Given the description of an element on the screen output the (x, y) to click on. 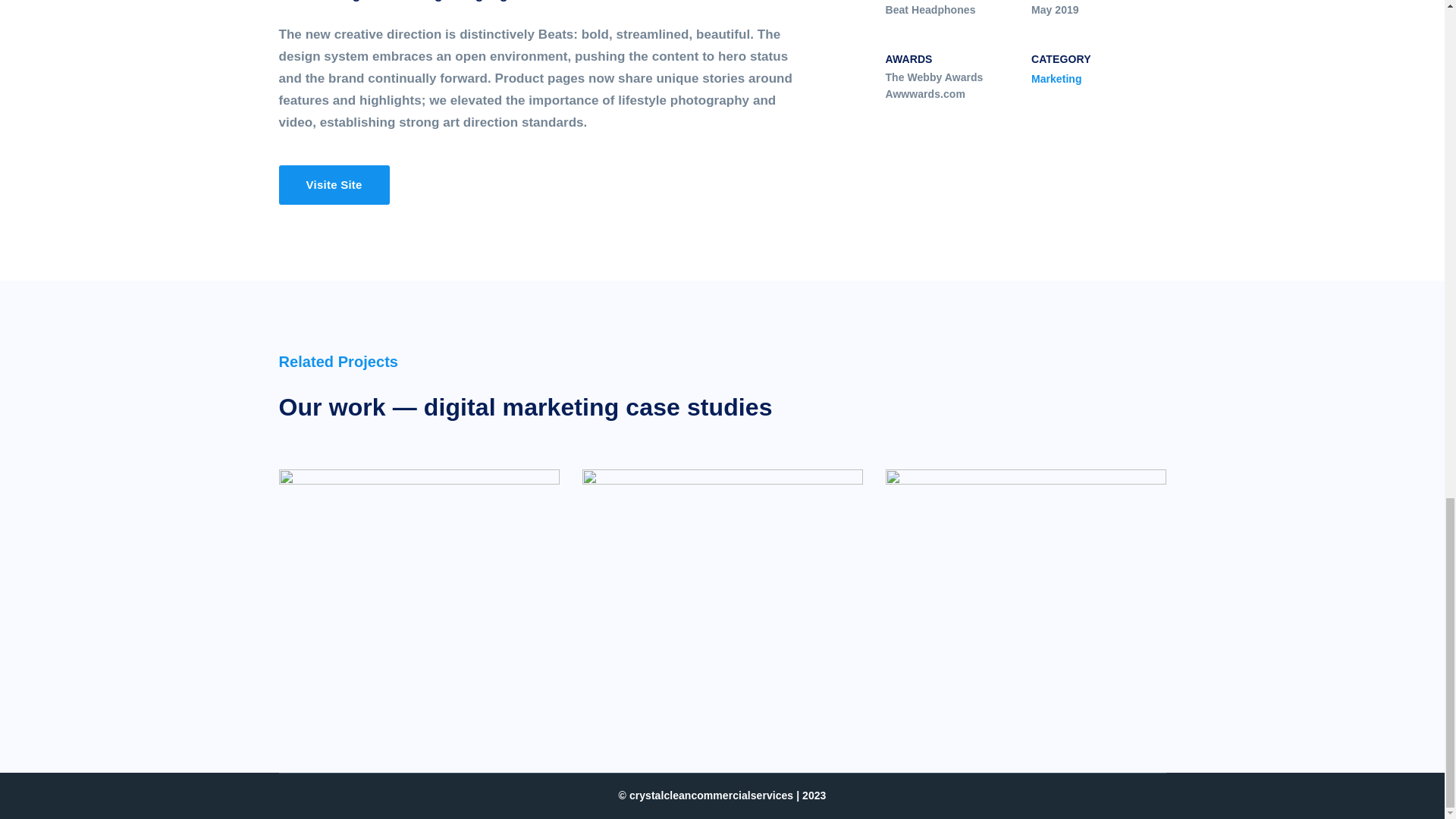
Visite Site (334, 184)
Marketing (1055, 78)
